Given the description of an element on the screen output the (x, y) to click on. 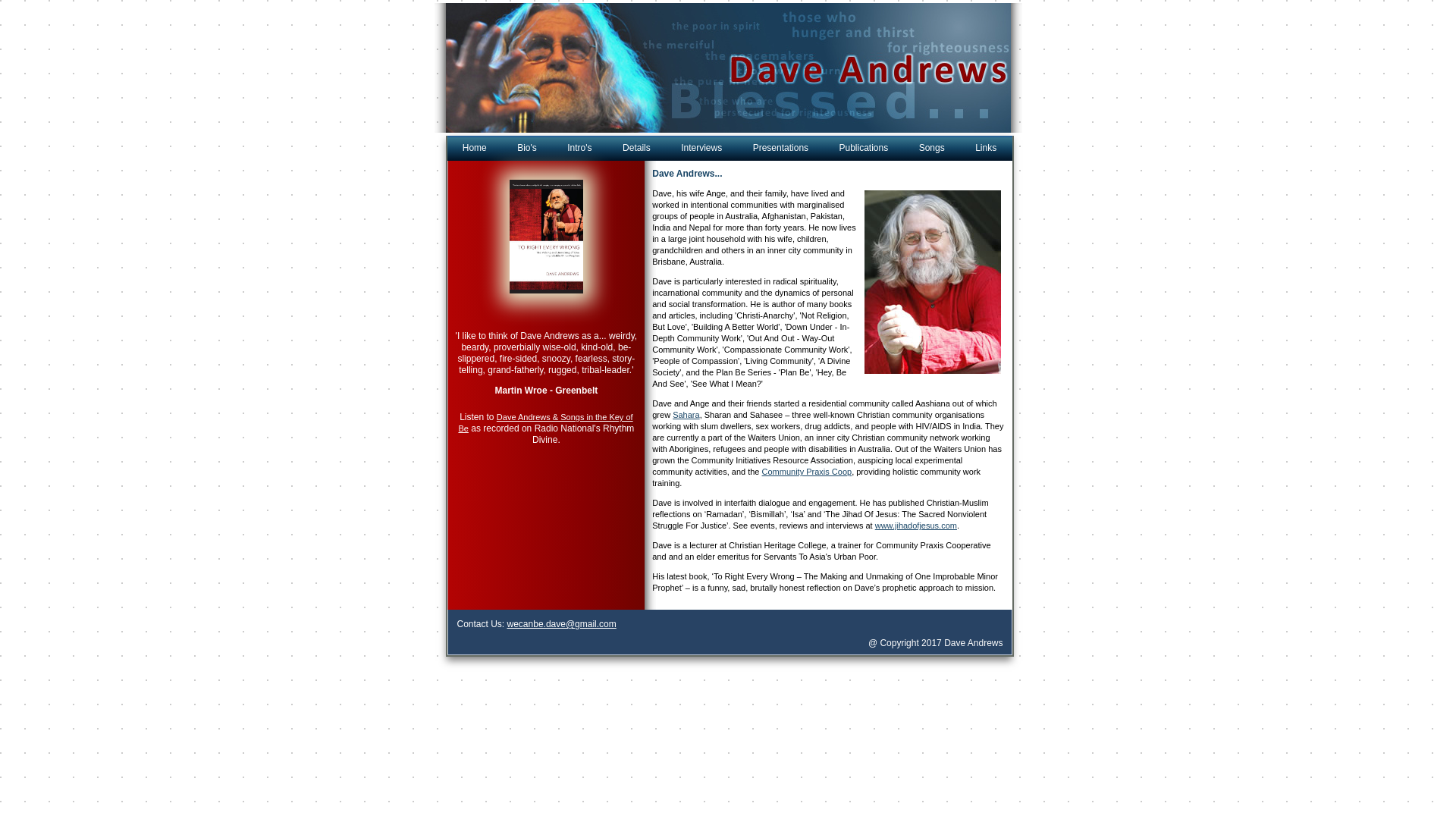
Songs Element type: text (931, 147)
Home Element type: text (474, 147)
Details Element type: text (636, 147)
Links Element type: text (985, 147)
Intro's Element type: text (579, 147)
www.jihadofjesus.com Element type: text (916, 525)
Sahara Element type: text (685, 414)
Bio's Element type: text (526, 147)
wecanbe.dave@gmail.com Element type: text (561, 623)
Dave Andrews & Songs in the Key of Be Element type: text (545, 422)
Interviews Element type: text (700, 147)
Community Praxis Coop Element type: text (807, 471)
Presentations Element type: text (780, 147)
Publications Element type: text (863, 147)
